Given the description of an element on the screen output the (x, y) to click on. 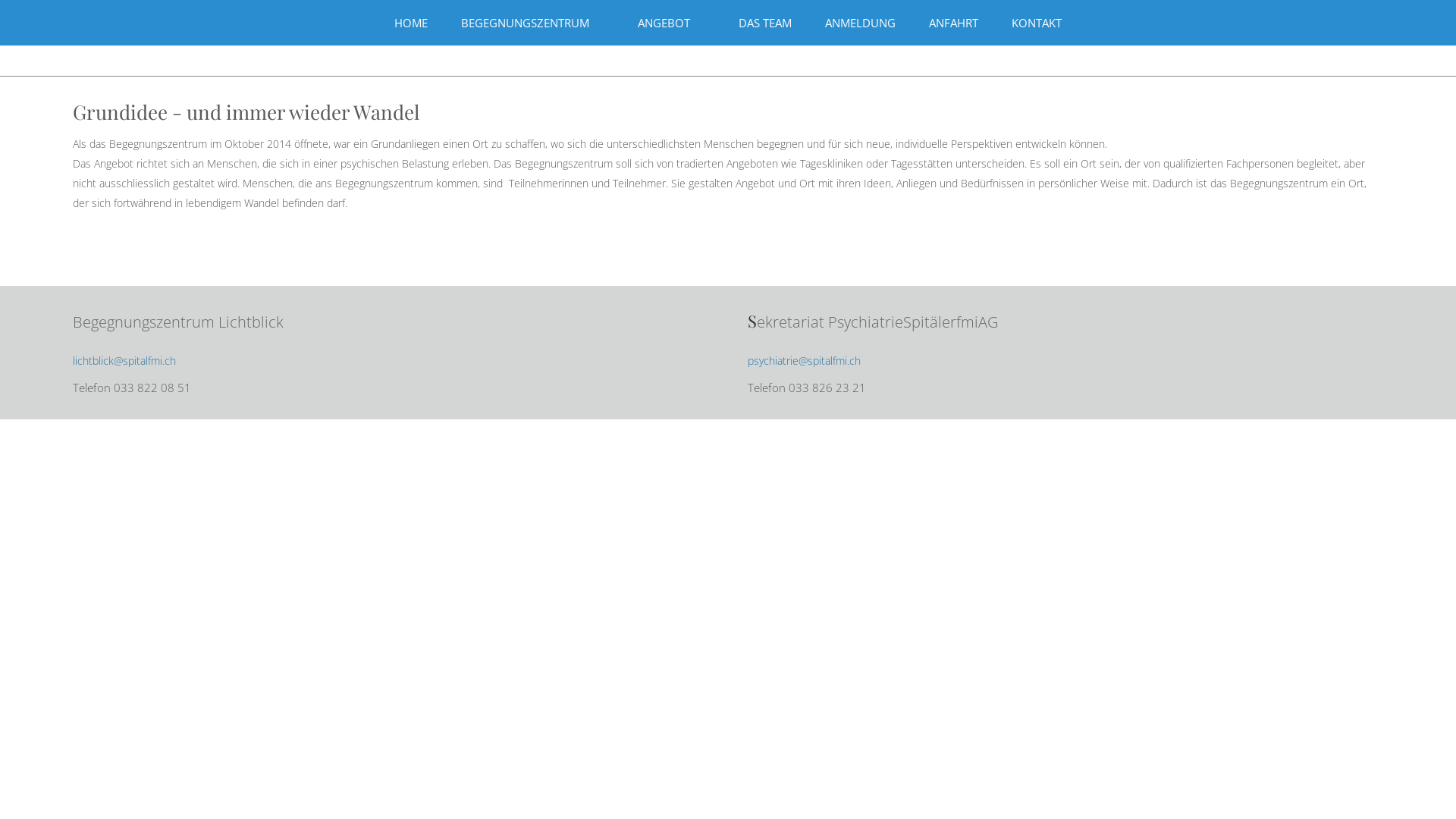
KONTAKT Element type: text (1036, 22)
lichtblick@spitalfmi.ch Element type: text (123, 360)
ANFAHRT Element type: text (953, 22)
DAS TEAM Element type: text (764, 22)
HOME Element type: text (410, 22)
ANMELDUNG Element type: text (859, 22)
psychiatrie@spitalfmi.ch Element type: text (803, 360)
